Given the description of an element on the screen output the (x, y) to click on. 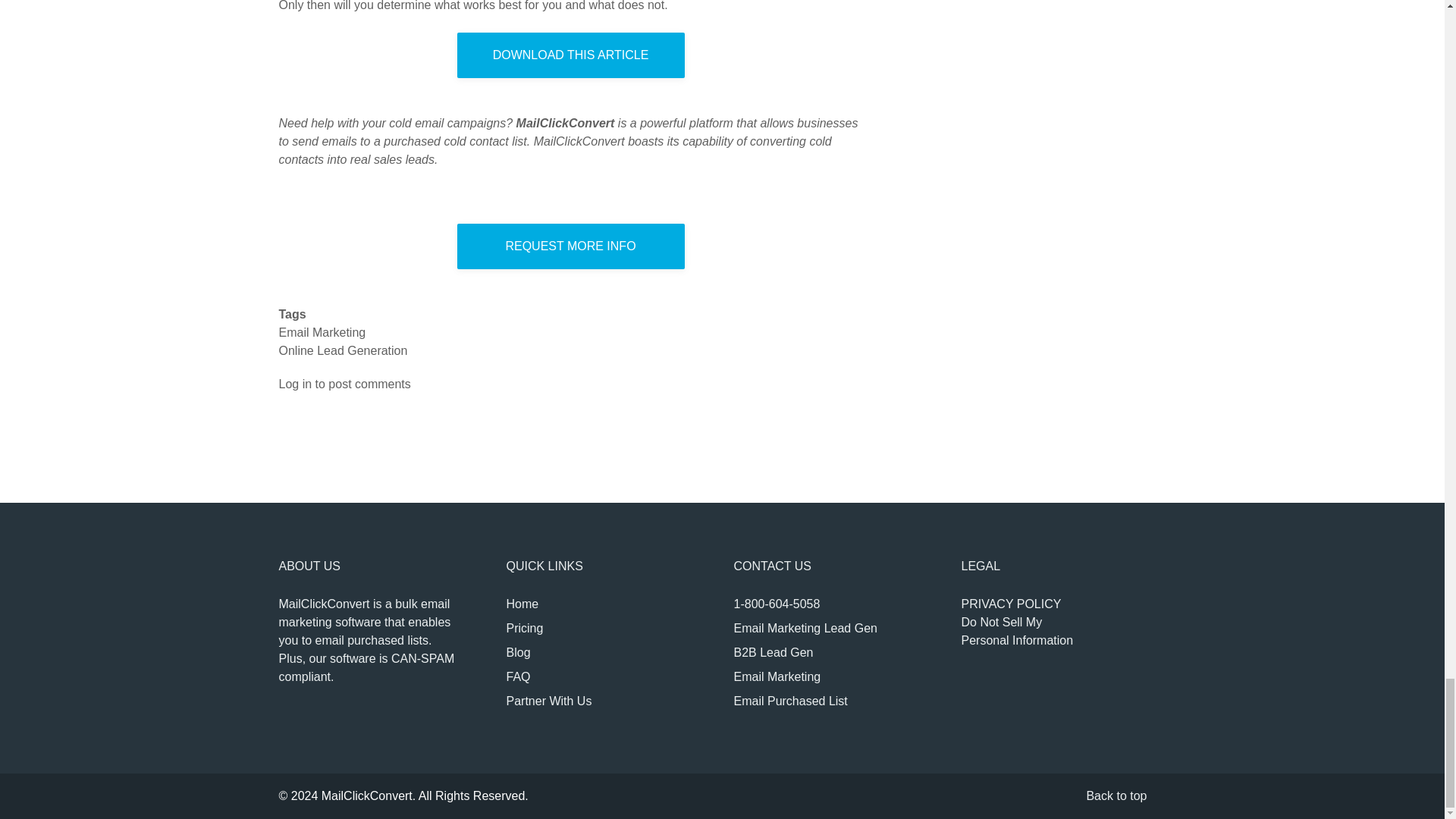
PRIVACY POLICY (1010, 603)
Log in (296, 383)
Online Lead Generation (343, 350)
DOWNLOAD THIS ARTICLE (570, 54)
Blog (1017, 631)
Email Purchased List (518, 652)
Email Marketing (790, 700)
Email Marketing Lead Gen (322, 332)
MailClickConvert (805, 627)
